Given the description of an element on the screen output the (x, y) to click on. 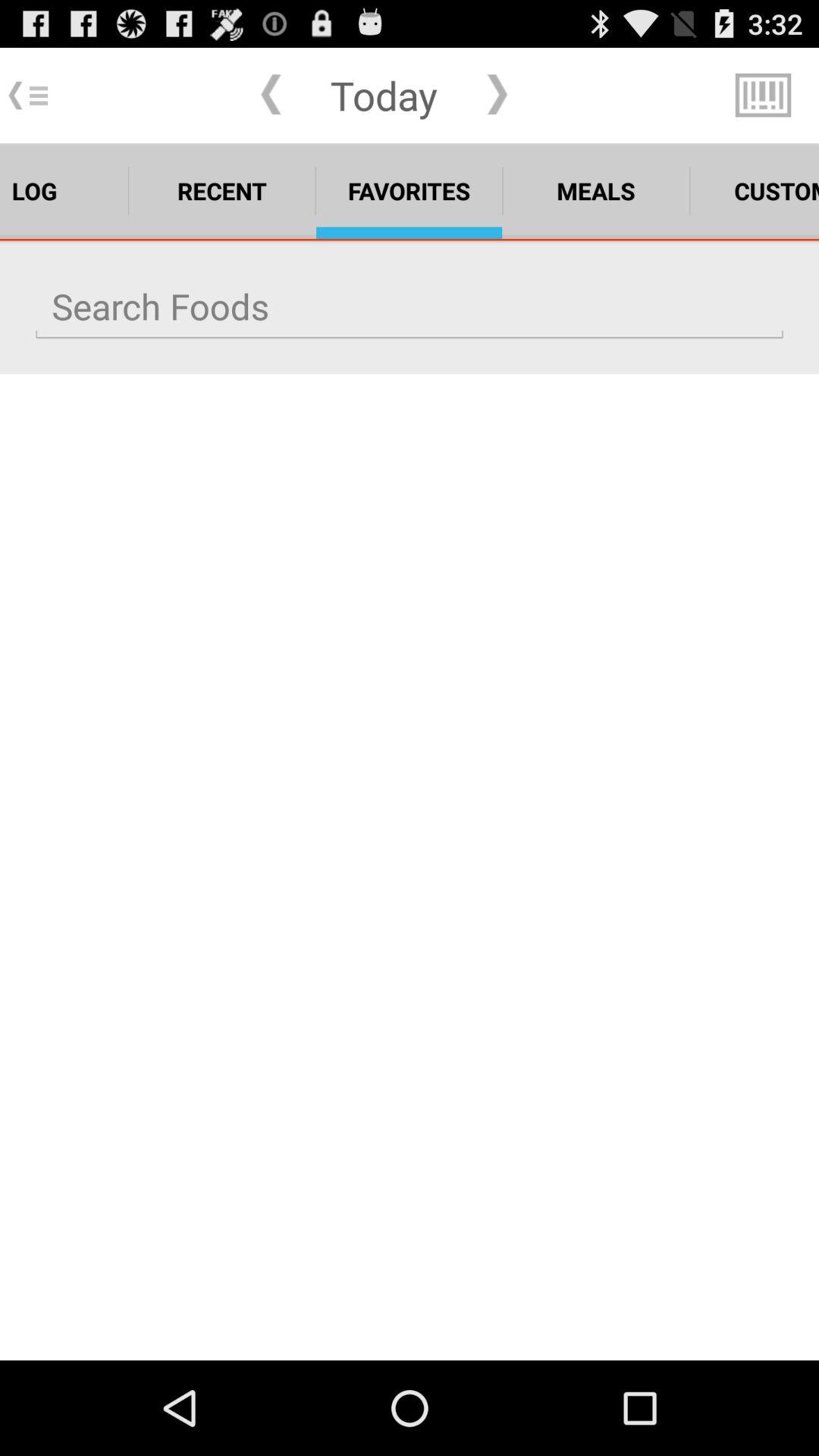
click icon above custom item (763, 95)
